Given the description of an element on the screen output the (x, y) to click on. 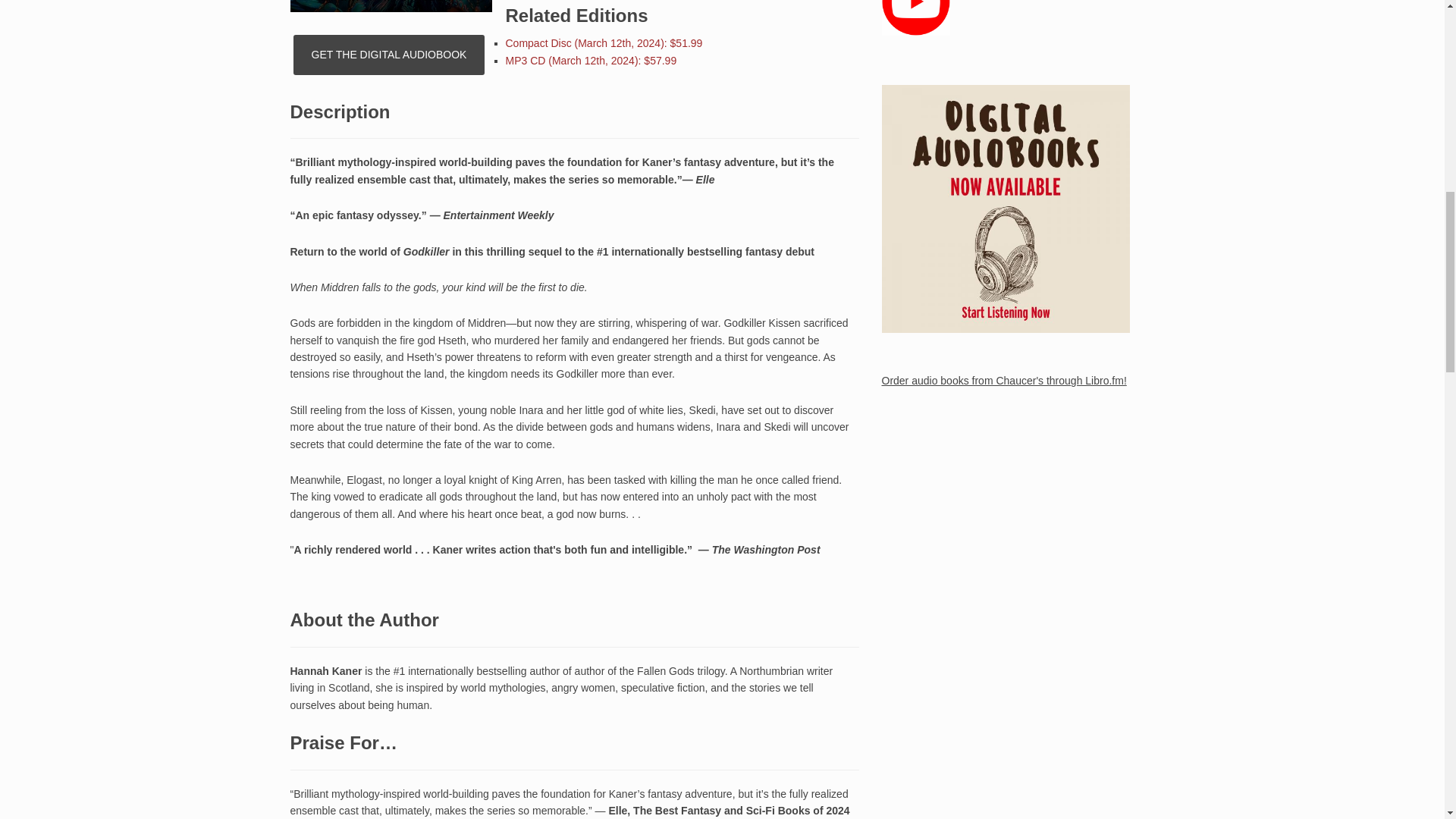
Get the Digital Audiobook (389, 54)
Get the Digital Audiobook (389, 54)
